Given the description of an element on the screen output the (x, y) to click on. 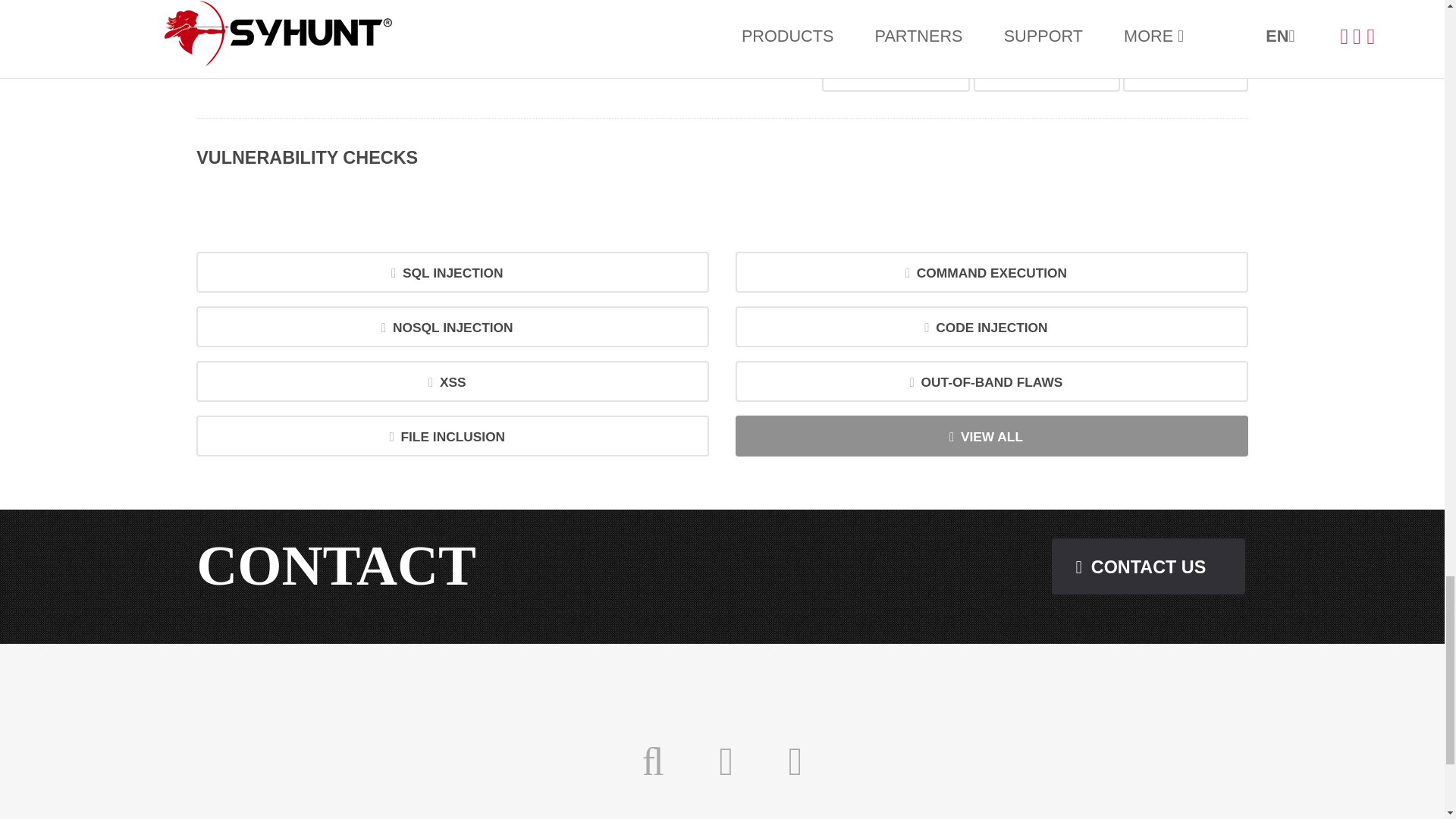
SUCCESS STORIES (1046, 74)
MORE CUSTOMERS (895, 74)
TESTIMONIALS (1184, 74)
SQL INJECTION (452, 272)
